Given the description of an element on the screen output the (x, y) to click on. 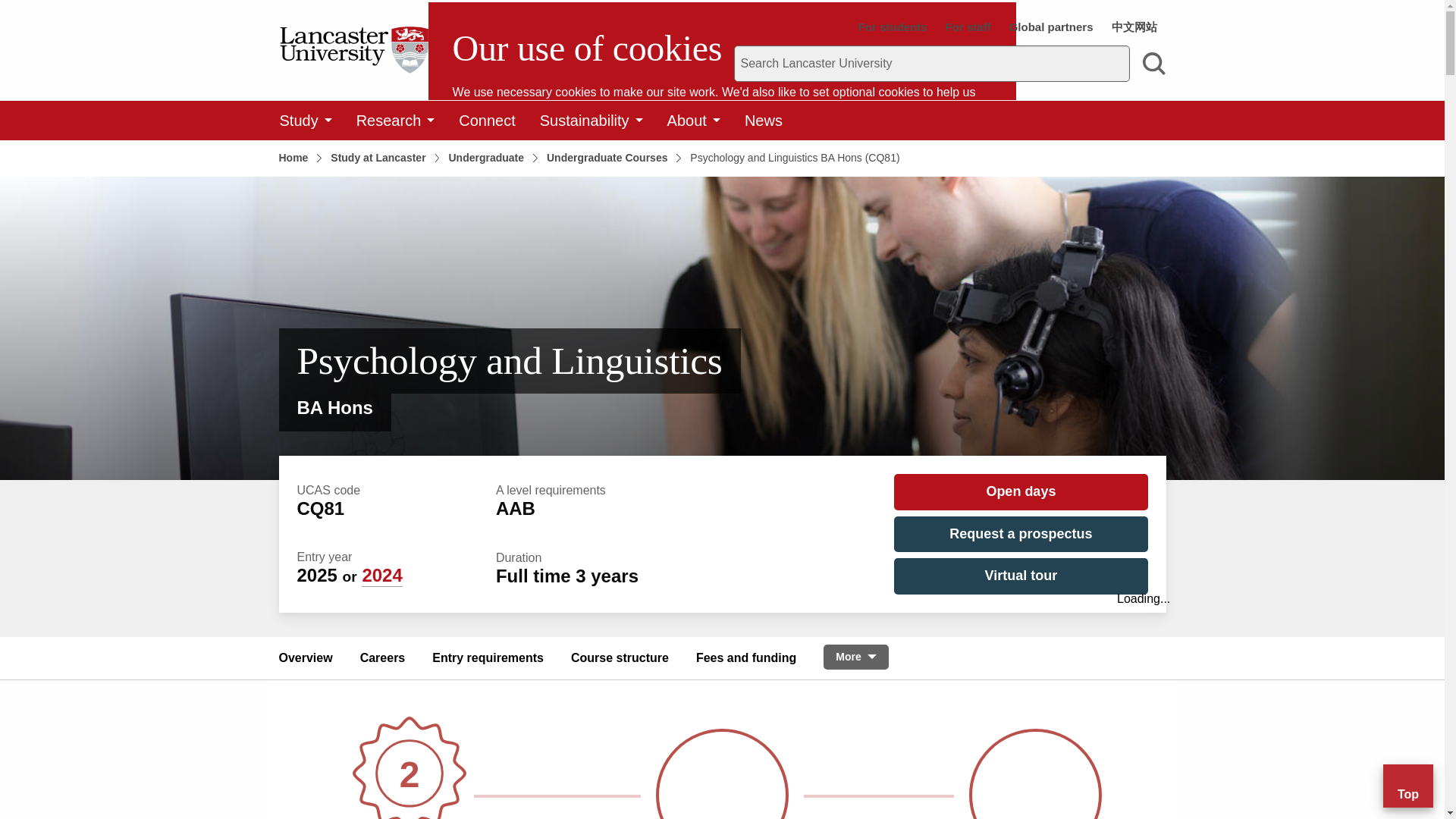
Study (304, 120)
Reject optional cookies (748, 187)
For staff (967, 27)
Accept optional cookies (547, 187)
For students (893, 27)
Global partners (1051, 27)
Cookie settings (493, 234)
